Given the description of an element on the screen output the (x, y) to click on. 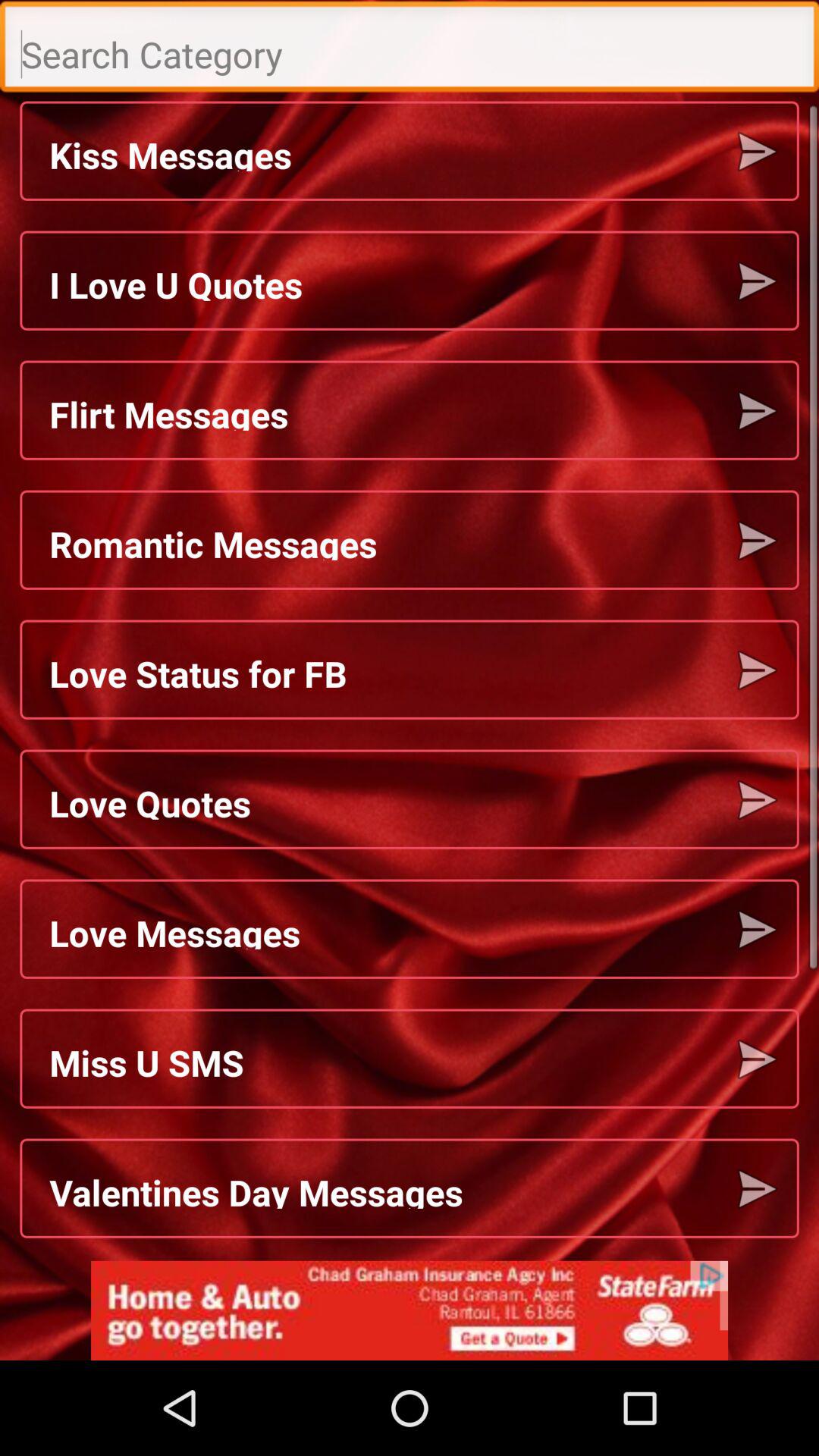
search bar (409, 50)
